Given the description of an element on the screen output the (x, y) to click on. 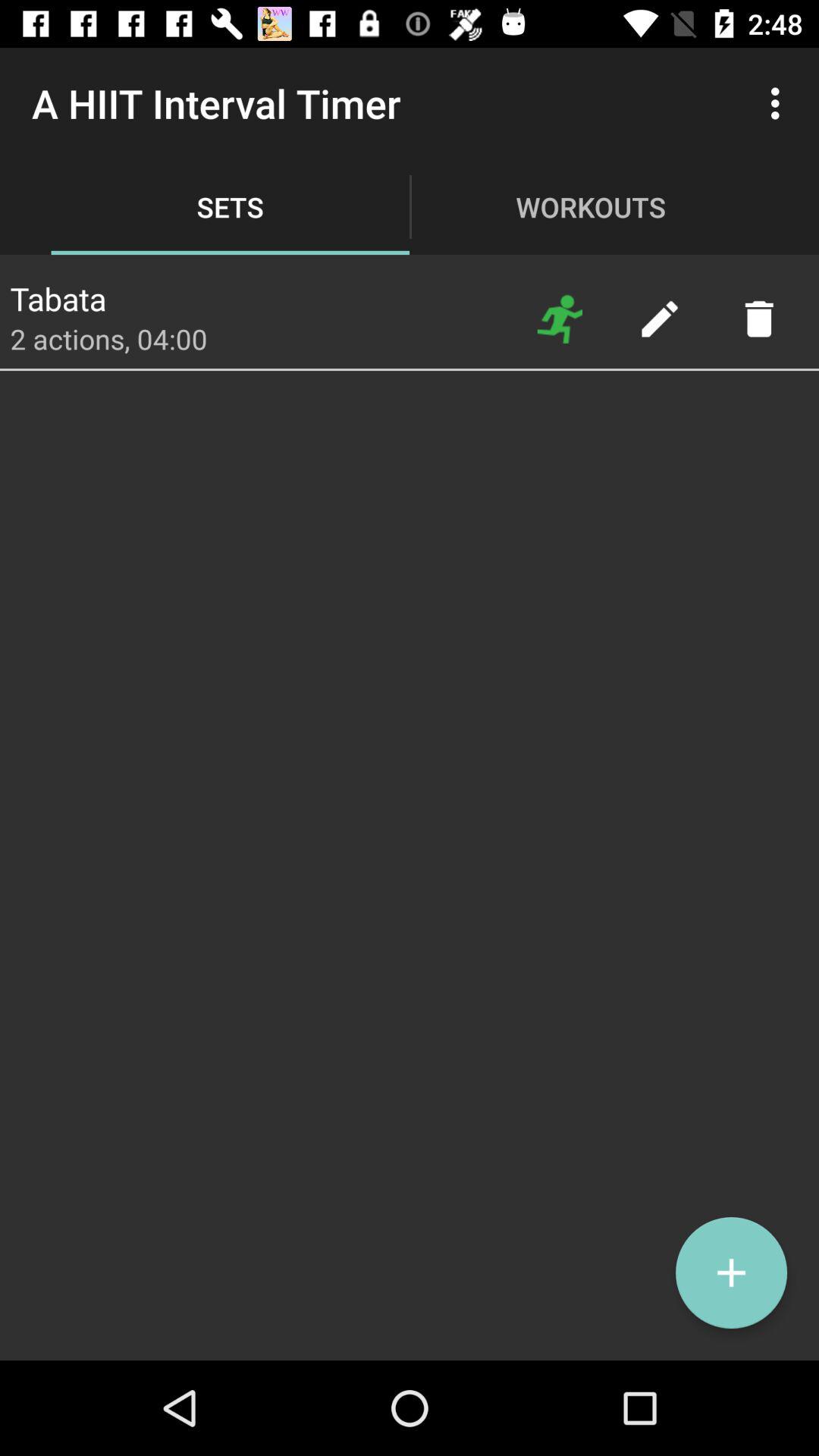
select icon to the right of sets icon (559, 318)
